Given the description of an element on the screen output the (x, y) to click on. 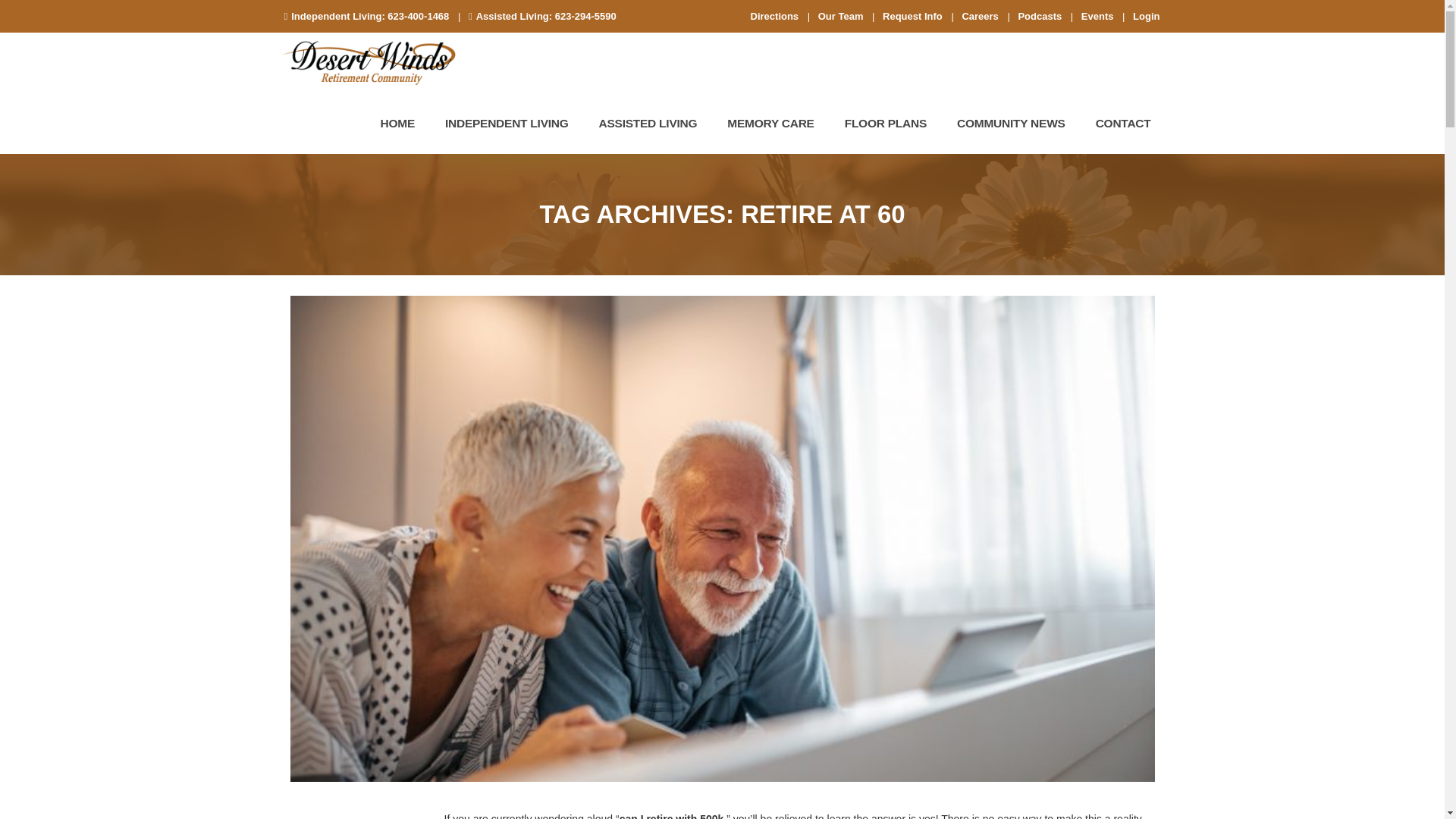
COMMUNITY NEWS (1011, 123)
Request Info (912, 16)
Login (1145, 16)
Podcasts (1039, 16)
INDEPENDENT LIVING (506, 123)
Events (1097, 16)
ASSISTED LIVING (648, 123)
Careers (978, 16)
HOME (397, 123)
Desert Winds Retirement Community (369, 62)
